Given the description of an element on the screen output the (x, y) to click on. 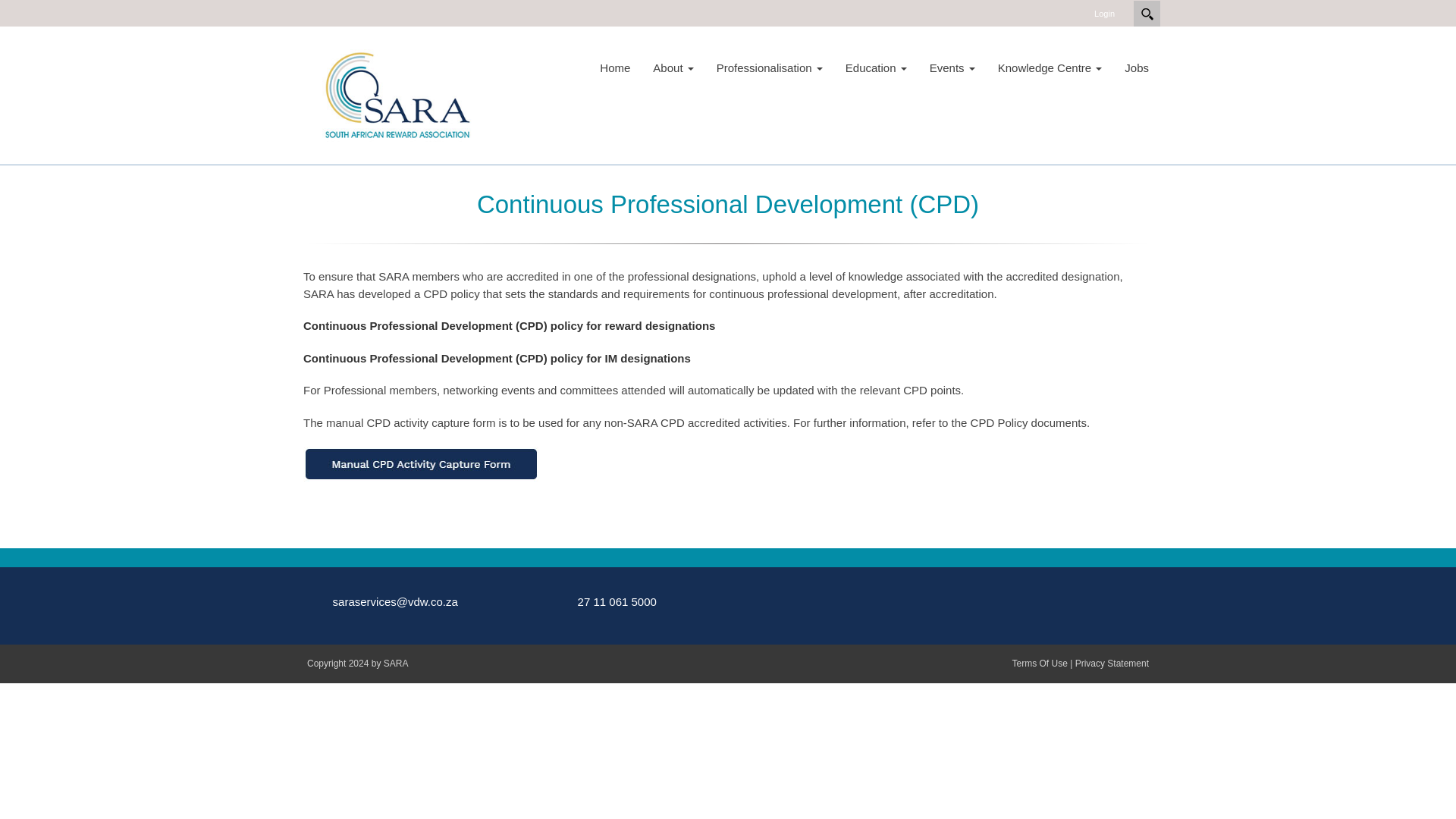
Login (1104, 13)
Home (615, 67)
Professionalisation (769, 67)
Search (1147, 13)
Login (1104, 13)
Education (876, 67)
About (673, 67)
